Given the description of an element on the screen output the (x, y) to click on. 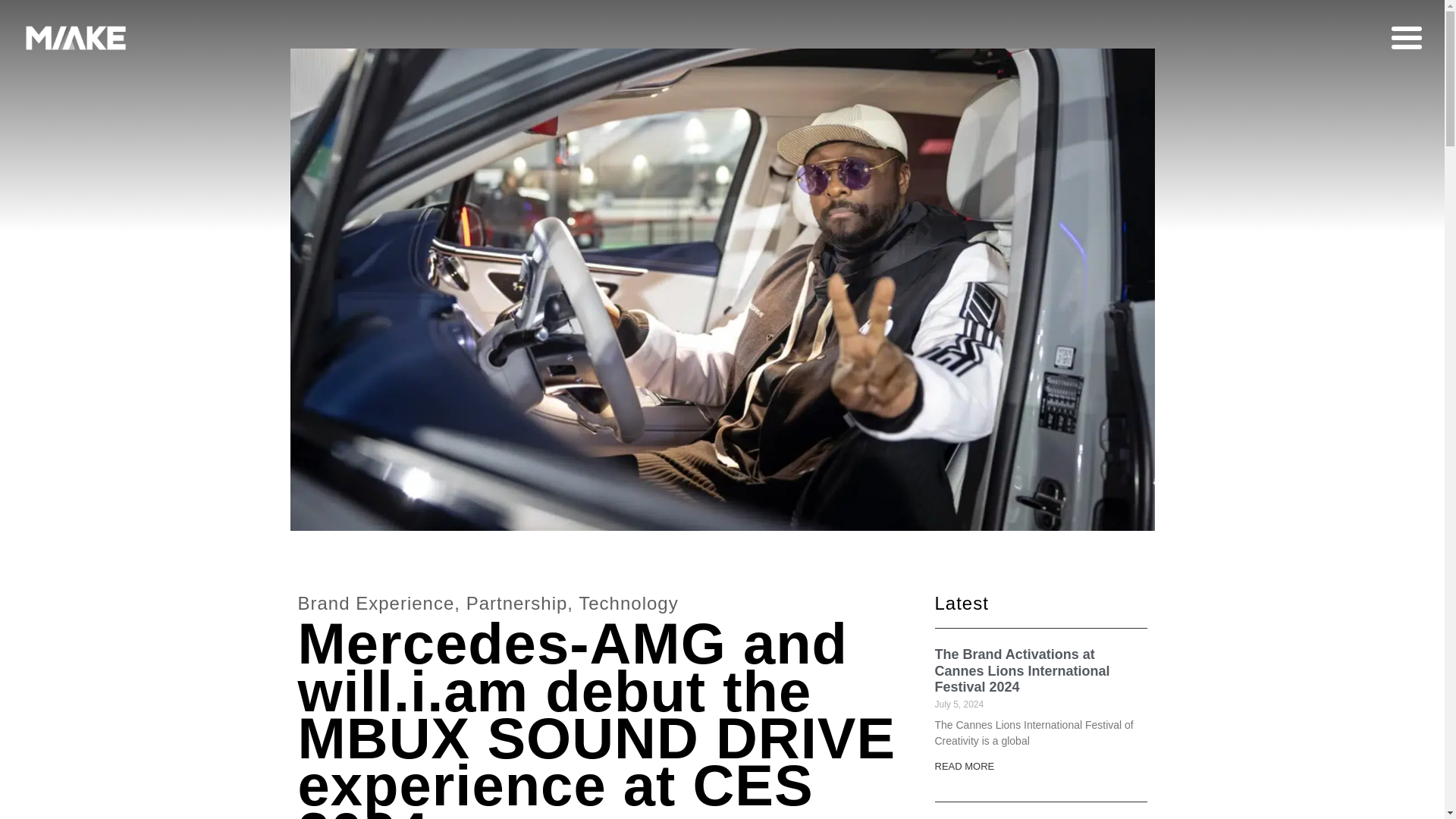
Technology (628, 602)
READ MORE (964, 766)
Brand Experience (375, 602)
Partnership (516, 602)
